Given the description of an element on the screen output the (x, y) to click on. 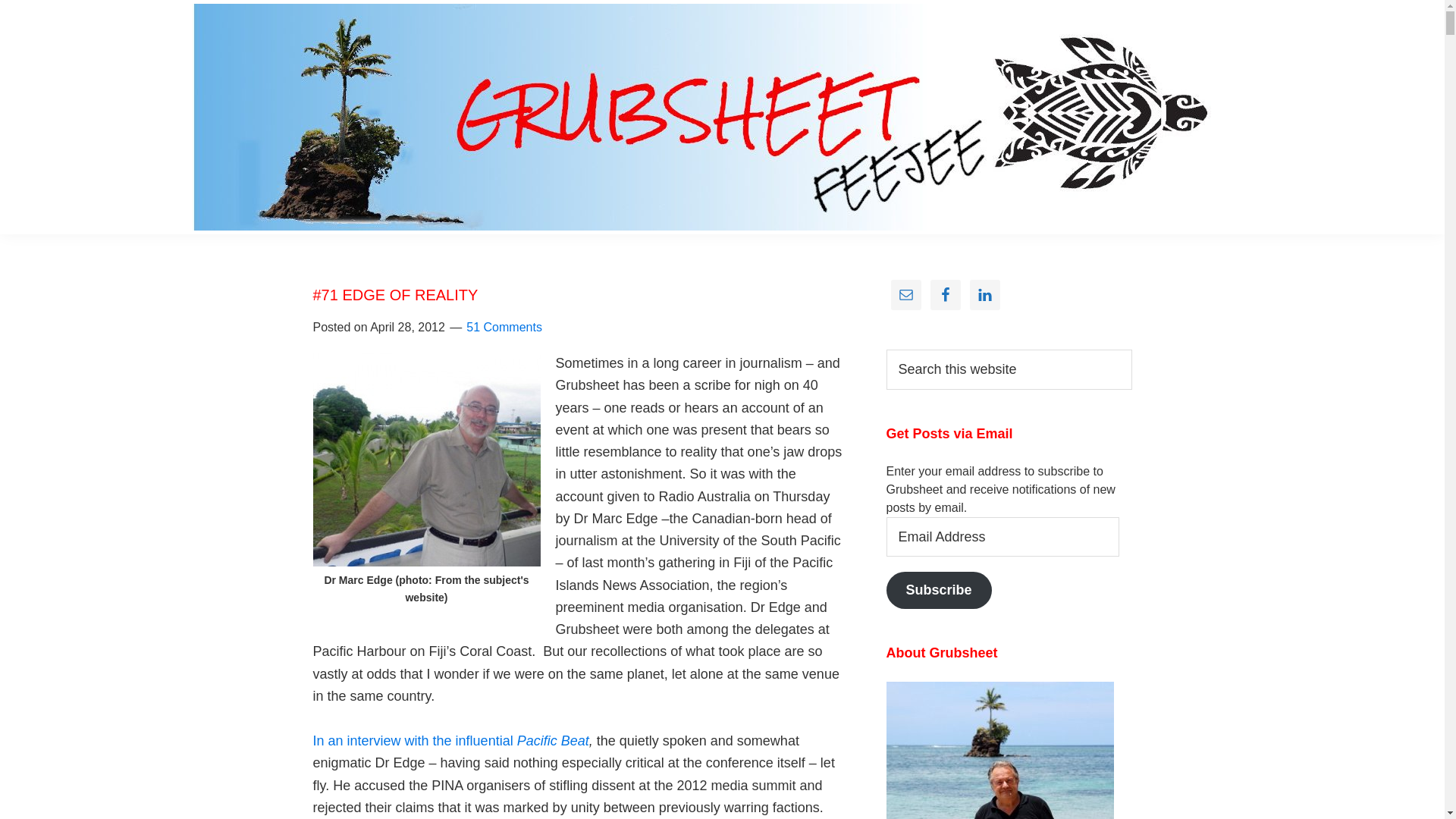
Subscribe Element type: text (938, 589)
Pacific Beat Element type: text (553, 740)
Search Element type: text (1131, 348)
In an interview with the influential Element type: text (414, 740)
Skip to main content Element type: text (0, 0)
51 Comments Element type: text (504, 326)
Marc 1 Element type: hover (425, 459)
